Given the description of an element on the screen output the (x, y) to click on. 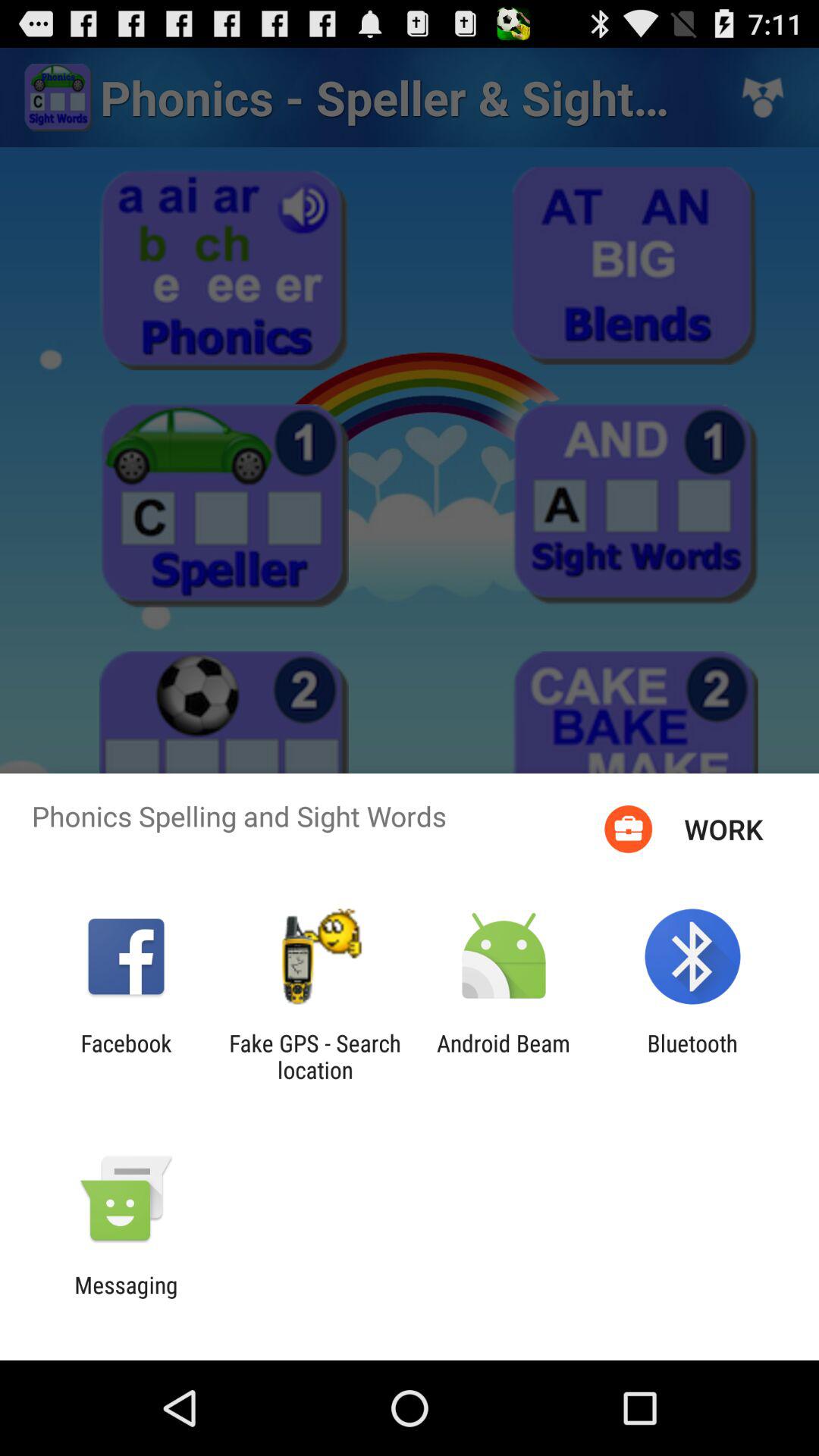
jump to the fake gps search (314, 1056)
